Given the description of an element on the screen output the (x, y) to click on. 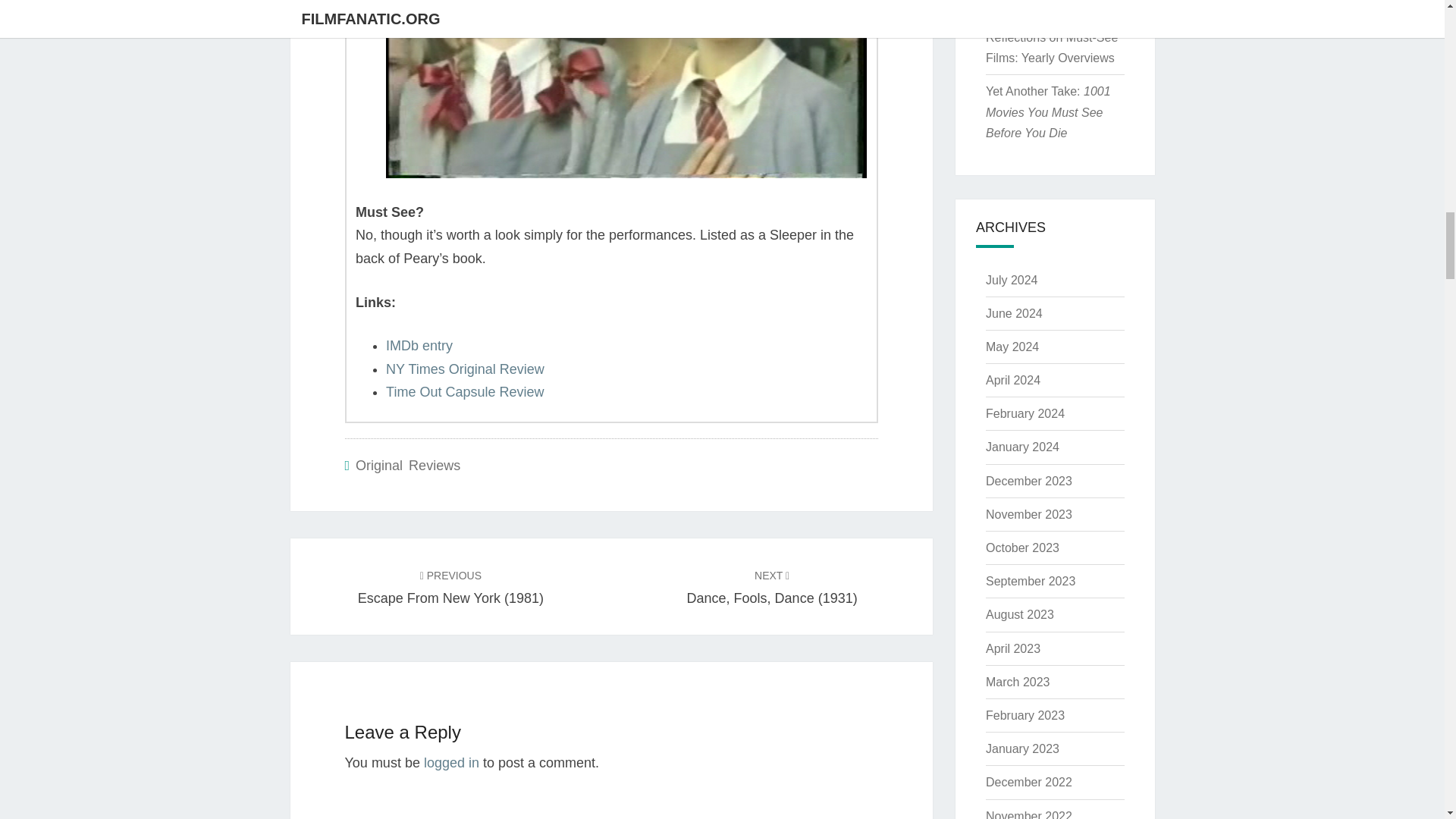
Original Reviews (407, 465)
Time Out Capsule Review (464, 391)
logged in (451, 762)
NY Times Original Review (464, 368)
IMDb entry (418, 345)
